Given the description of an element on the screen output the (x, y) to click on. 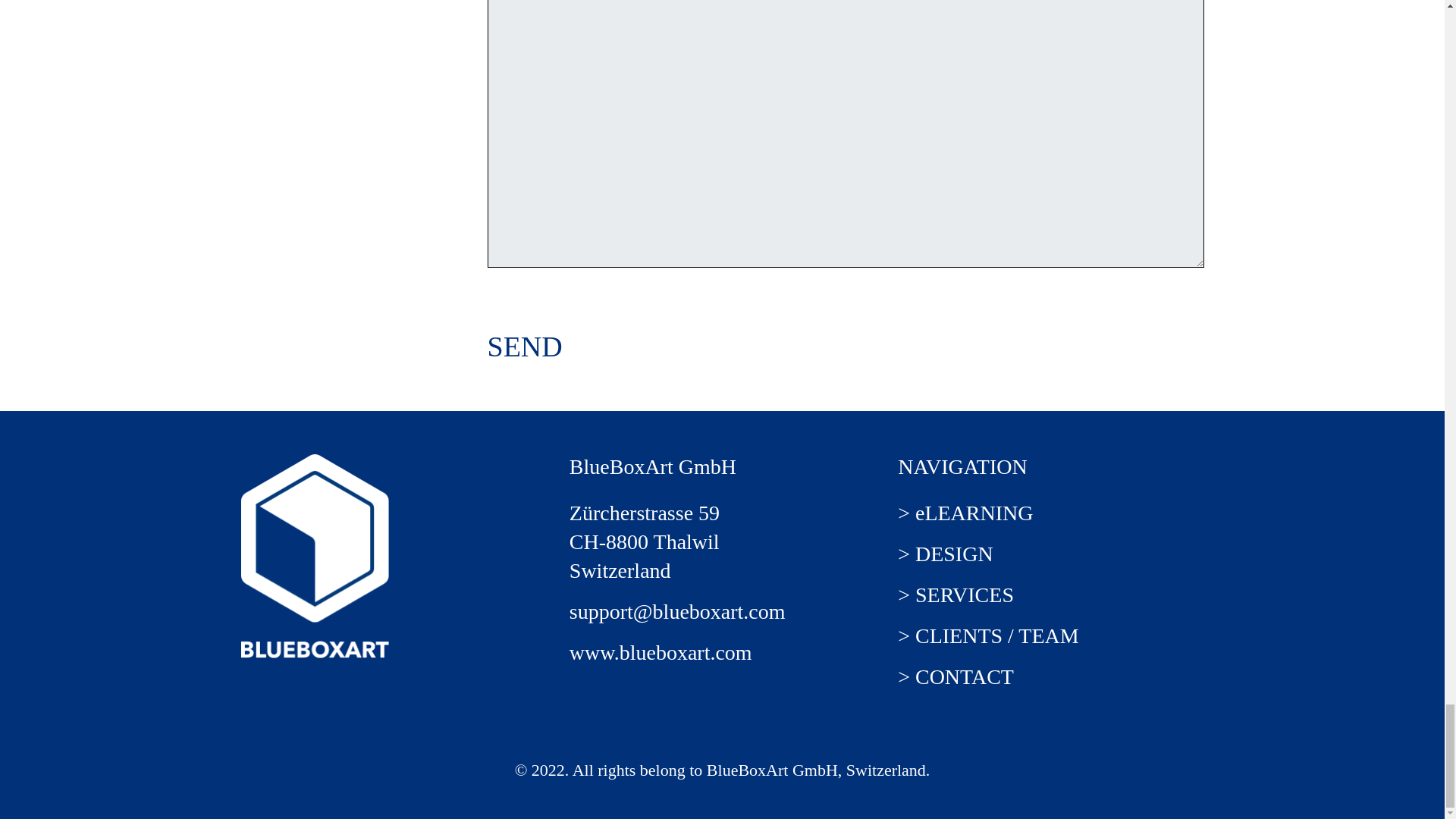
eLEARNING (974, 512)
CONTACT (964, 676)
DESIGN (953, 553)
SERVICES (964, 594)
SEND (524, 346)
SEND (524, 346)
